Given the description of an element on the screen output the (x, y) to click on. 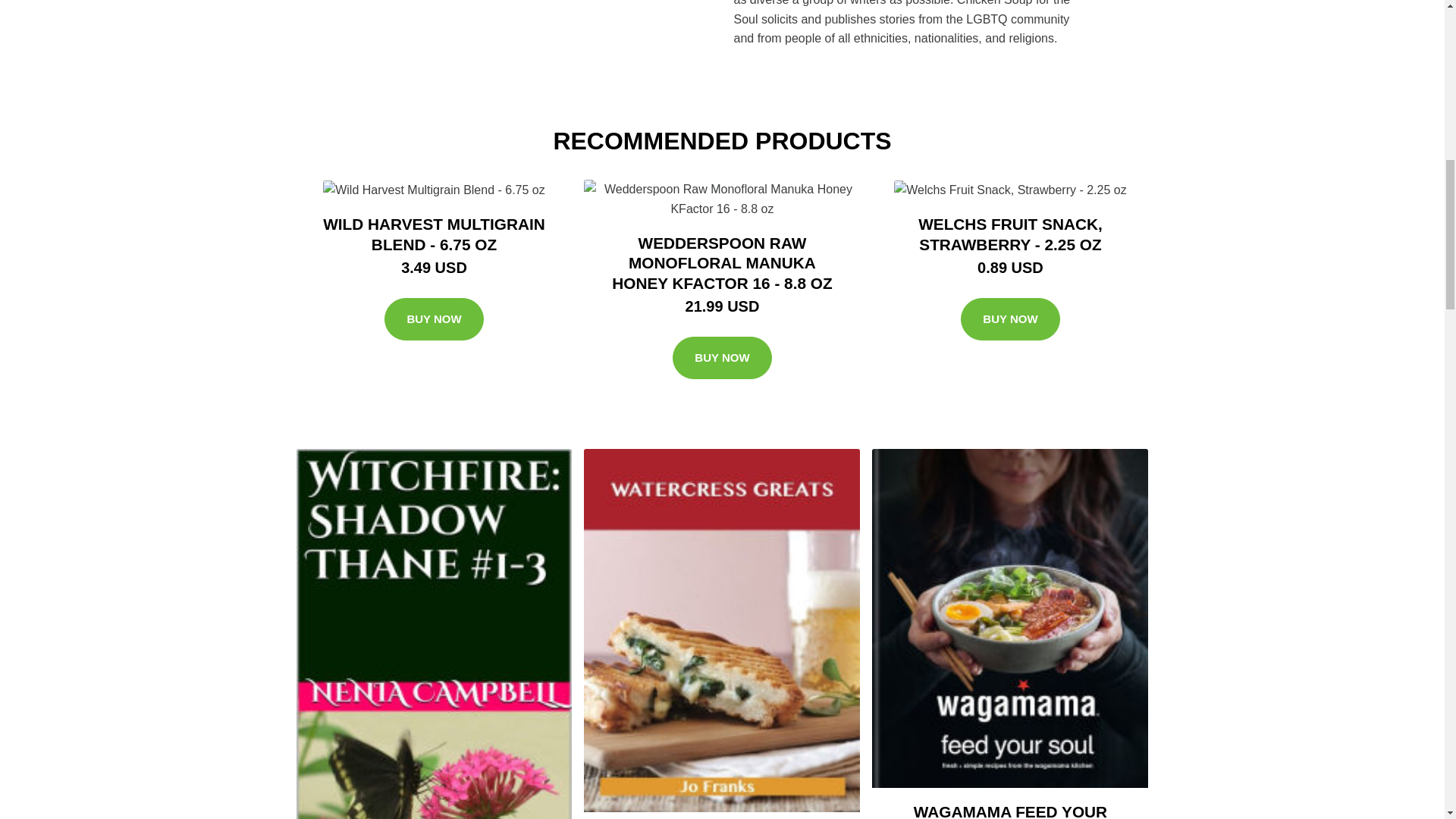
WELCHS FRUIT SNACK, STRAWBERRY - 2.25 OZ (1010, 234)
BUY NOW (433, 319)
WEDDERSPOON RAW MONOFLORAL MANUKA HONEY KFACTOR 16 - 8.8 OZ (721, 262)
BUY NOW (1009, 319)
WILD HARVEST MULTIGRAIN BLEND - 6.75 OZ (433, 234)
BUY NOW (721, 357)
